Given the description of an element on the screen output the (x, y) to click on. 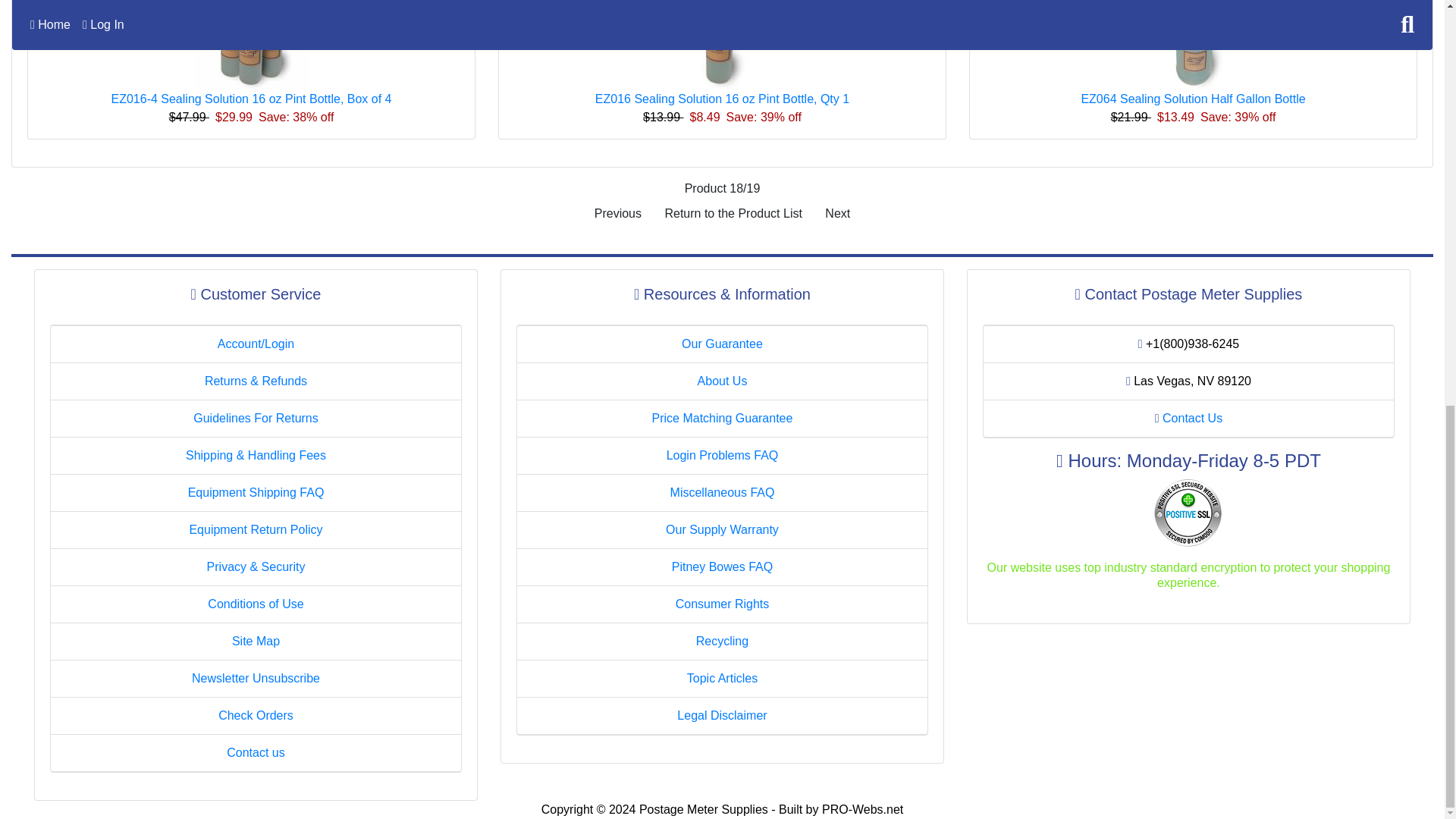
EZ016-4 Sealing Solution 16 oz Pint Bottle, Box of 4 (250, 42)
Conditions of Use (255, 603)
EZ016 Sealing Solution 16 oz Pint Bottle, Qty 1 (721, 45)
Equipment Shipping Facts (255, 492)
EZ064 Sealing Solution Half Gallon Bottle (1192, 45)
EZ016 Sealing Solution 16 oz Pint Bottle, Qty 1 (721, 42)
Equipment Return Policy (255, 529)
Previous (617, 214)
Site Map (255, 640)
EZ064 Sealing Solution Half Gallon Bottle (1192, 42)
EZ016 Sealing Solution 16 oz Pint Bottle, Qty 1 (721, 98)
Newsletter Unsubscribe (256, 677)
EZ064 Sealing Solution Half Gallon Bottle (1192, 98)
EZ016-4 Sealing Solution 16 oz Pint Bottle, Box of 4 (250, 45)
EZ016-4 Sealing Solution 16 oz Pint Bottle, Box of 4 (250, 98)
